Given the description of an element on the screen output the (x, y) to click on. 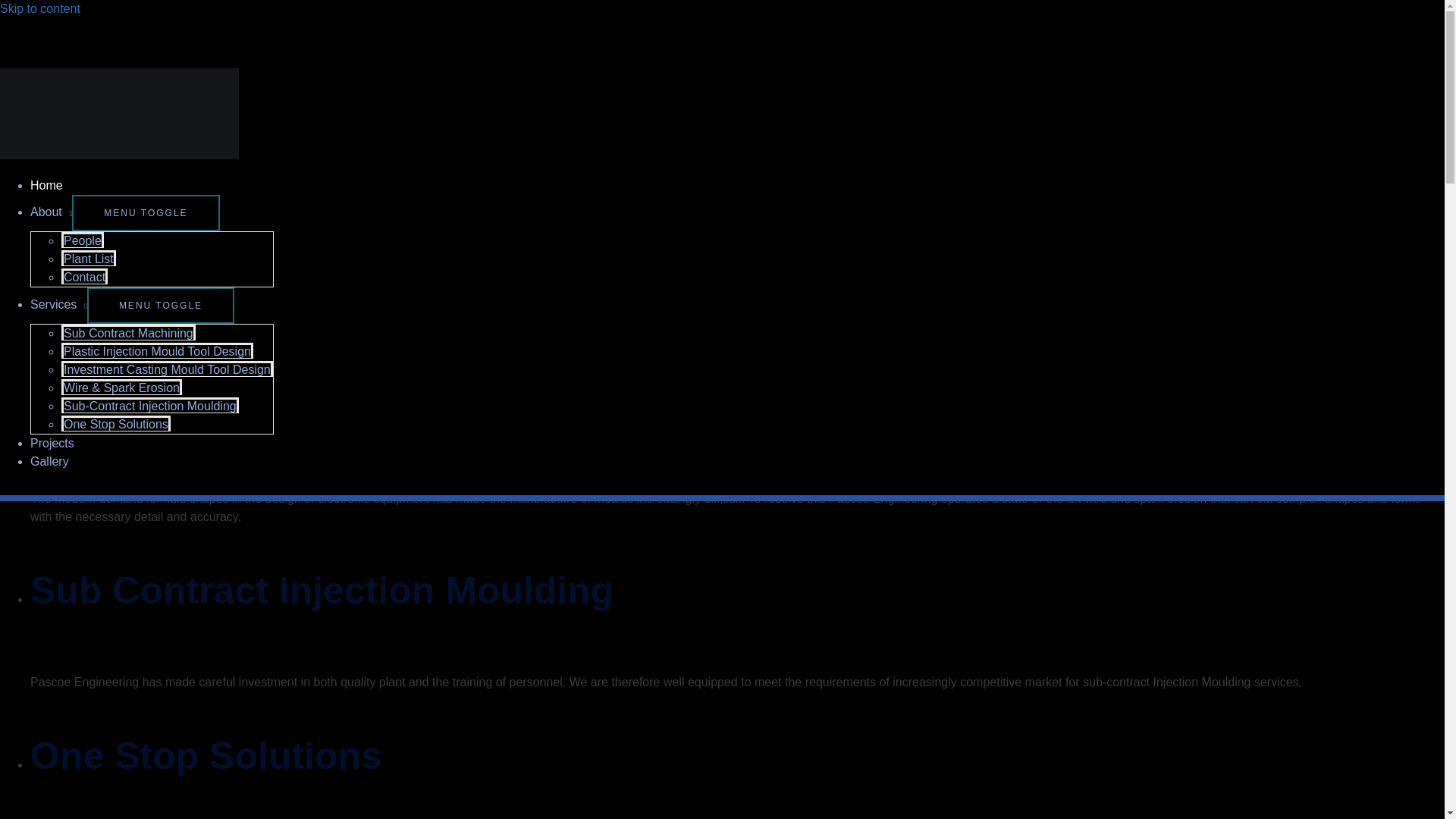
MENU TOGGLE (160, 305)
MENU TOGGLE (145, 212)
Projects (52, 442)
Plastic Injection Mould Tool Design (157, 350)
One Stop Solutions (115, 423)
Investment Casting Mould Tool Design (167, 368)
Gallery (49, 461)
Home (46, 185)
Skip to content (40, 8)
Skip to content (40, 8)
Sub-Contract Injection Moulding (149, 405)
Contact (84, 276)
Plant List (88, 258)
People (82, 239)
About (50, 211)
